Given the description of an element on the screen output the (x, y) to click on. 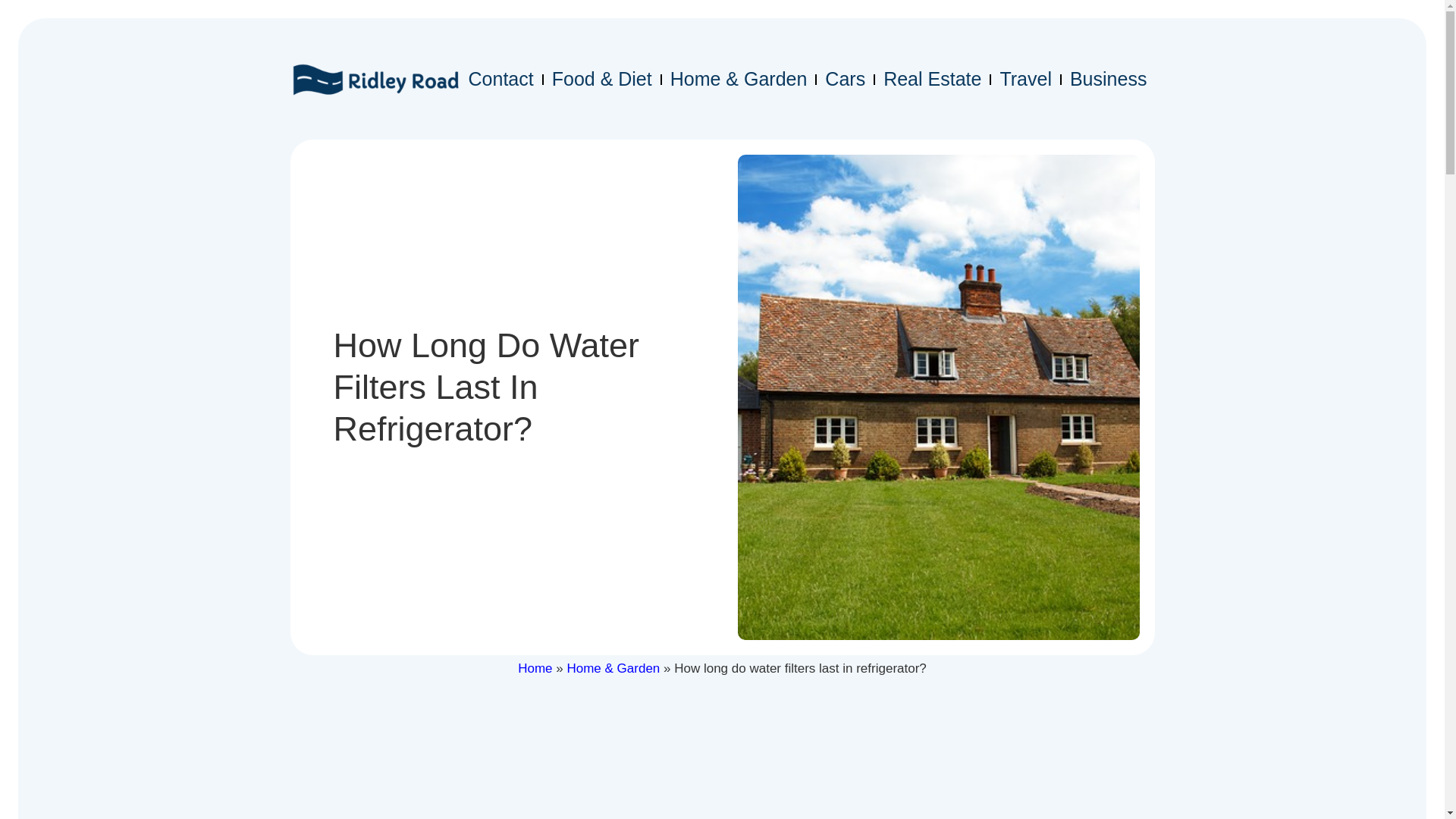
Real Estate (932, 79)
Cars (844, 79)
Business (1108, 79)
Home (534, 667)
Contact (501, 79)
Travel (1025, 79)
